Given the description of an element on the screen output the (x, y) to click on. 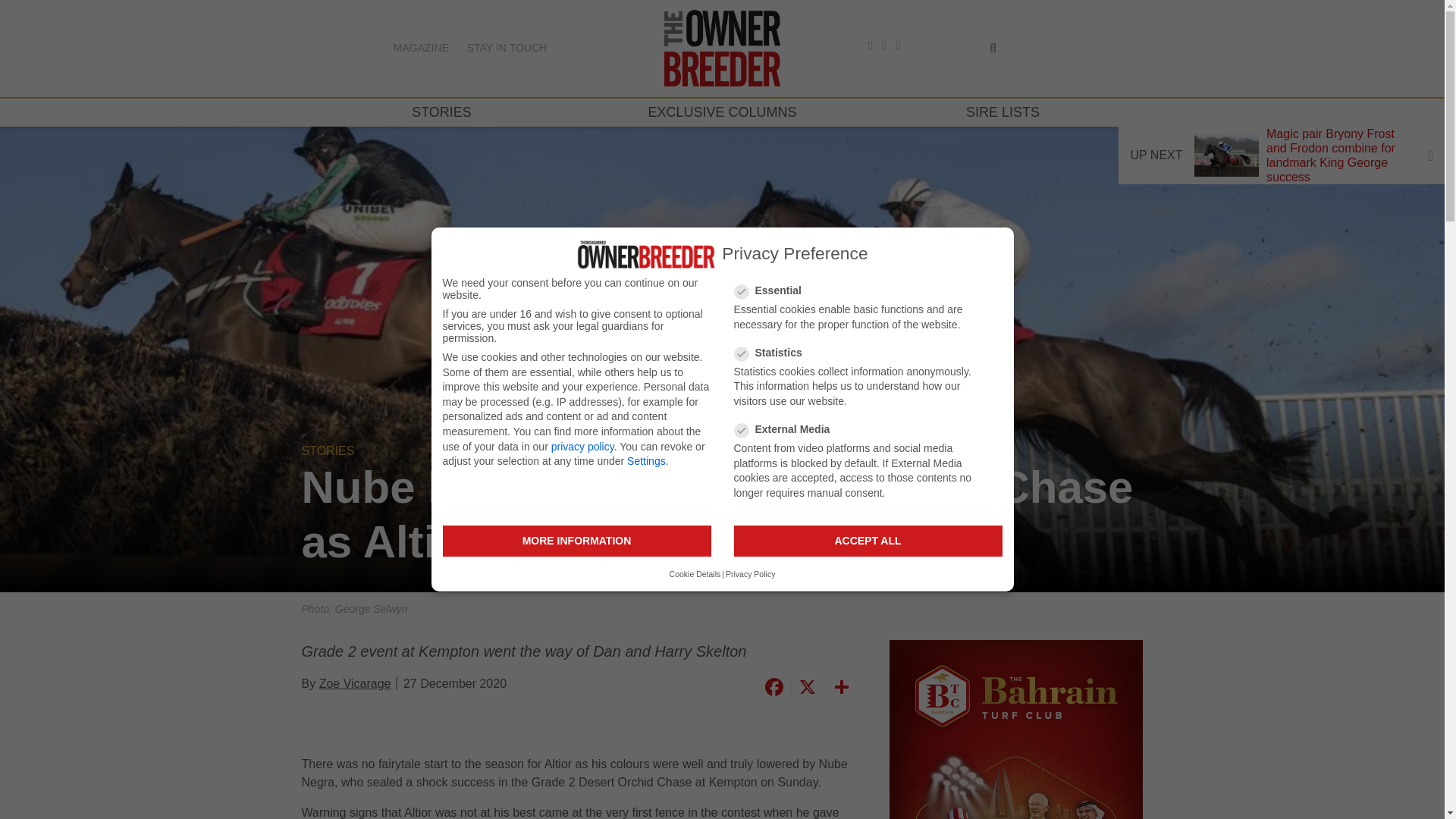
Facebook (772, 687)
SIRE LISTS (1002, 111)
X (805, 687)
EXCLUSIVE COLUMNS (721, 111)
STAY IN TOUCH (507, 48)
Share (840, 687)
MAGAZINE (420, 47)
STORIES (441, 111)
Zoe Vicarage (354, 683)
